Given the description of an element on the screen output the (x, y) to click on. 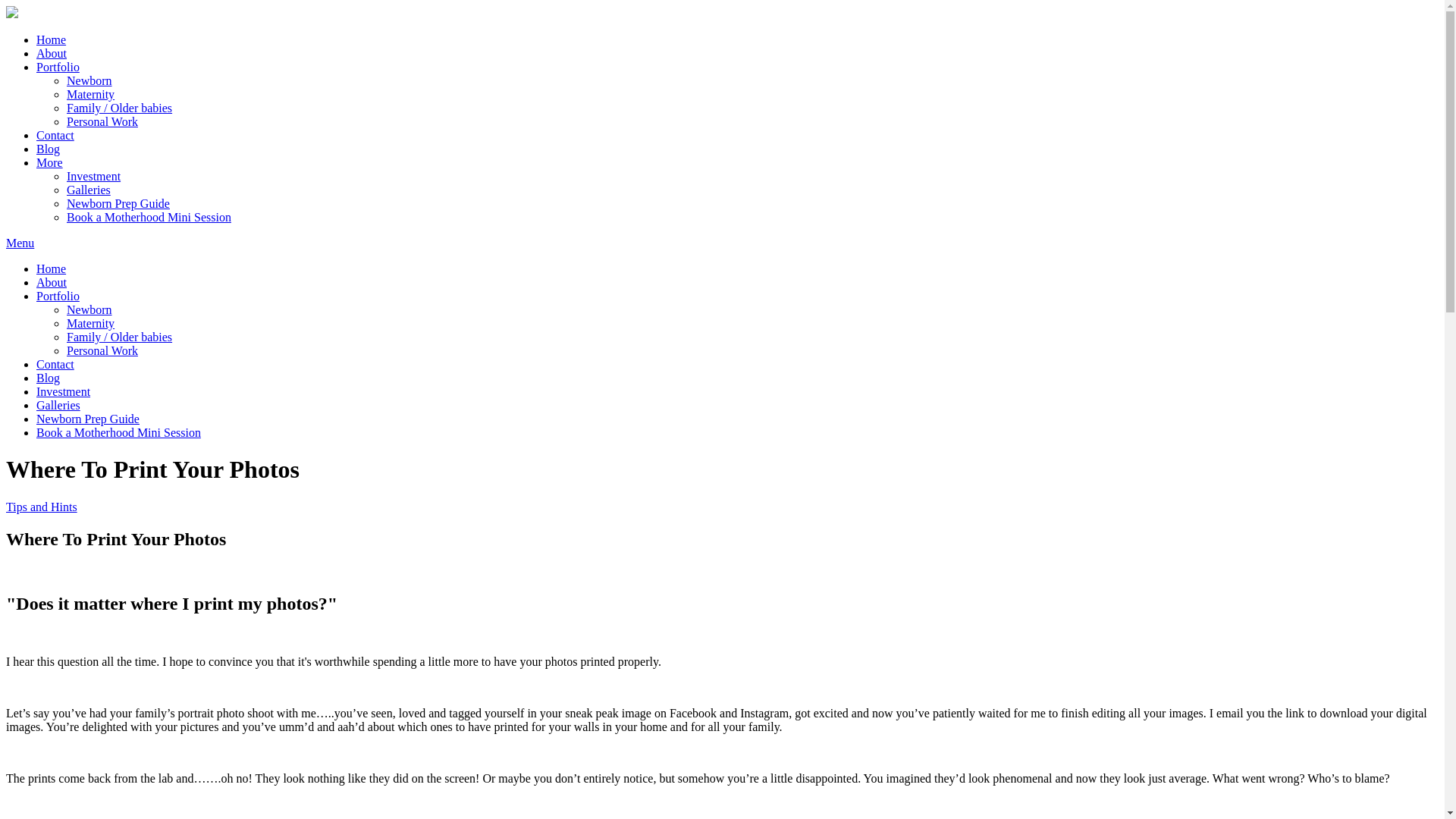
Tips and Hints Element type: text (41, 506)
About Element type: text (51, 53)
Personal Work Element type: text (102, 121)
Galleries Element type: text (88, 189)
Newborn Element type: text (89, 80)
Portfolio Element type: text (57, 295)
Contact Element type: text (55, 363)
Newborn Prep Guide Element type: text (87, 418)
Family / Older babies Element type: text (119, 336)
Newborn Element type: text (89, 309)
More Element type: text (49, 162)
Personal Work Element type: text (102, 350)
About Element type: text (51, 282)
Blog Element type: text (47, 148)
Newborn Prep Guide Element type: text (117, 203)
Book a Motherhood Mini Session Element type: text (148, 216)
Investment Element type: text (93, 175)
Maternity Element type: text (90, 93)
Menu Element type: text (20, 242)
Blog Element type: text (47, 377)
Investment Element type: text (63, 391)
Book a Motherhood Mini Session Element type: text (118, 432)
Contact Element type: text (55, 134)
Home Element type: text (50, 268)
Maternity Element type: text (90, 322)
Home Element type: text (50, 39)
Portfolio Element type: text (57, 66)
Galleries Element type: text (58, 404)
Family / Older babies Element type: text (119, 107)
